Given the description of an element on the screen output the (x, y) to click on. 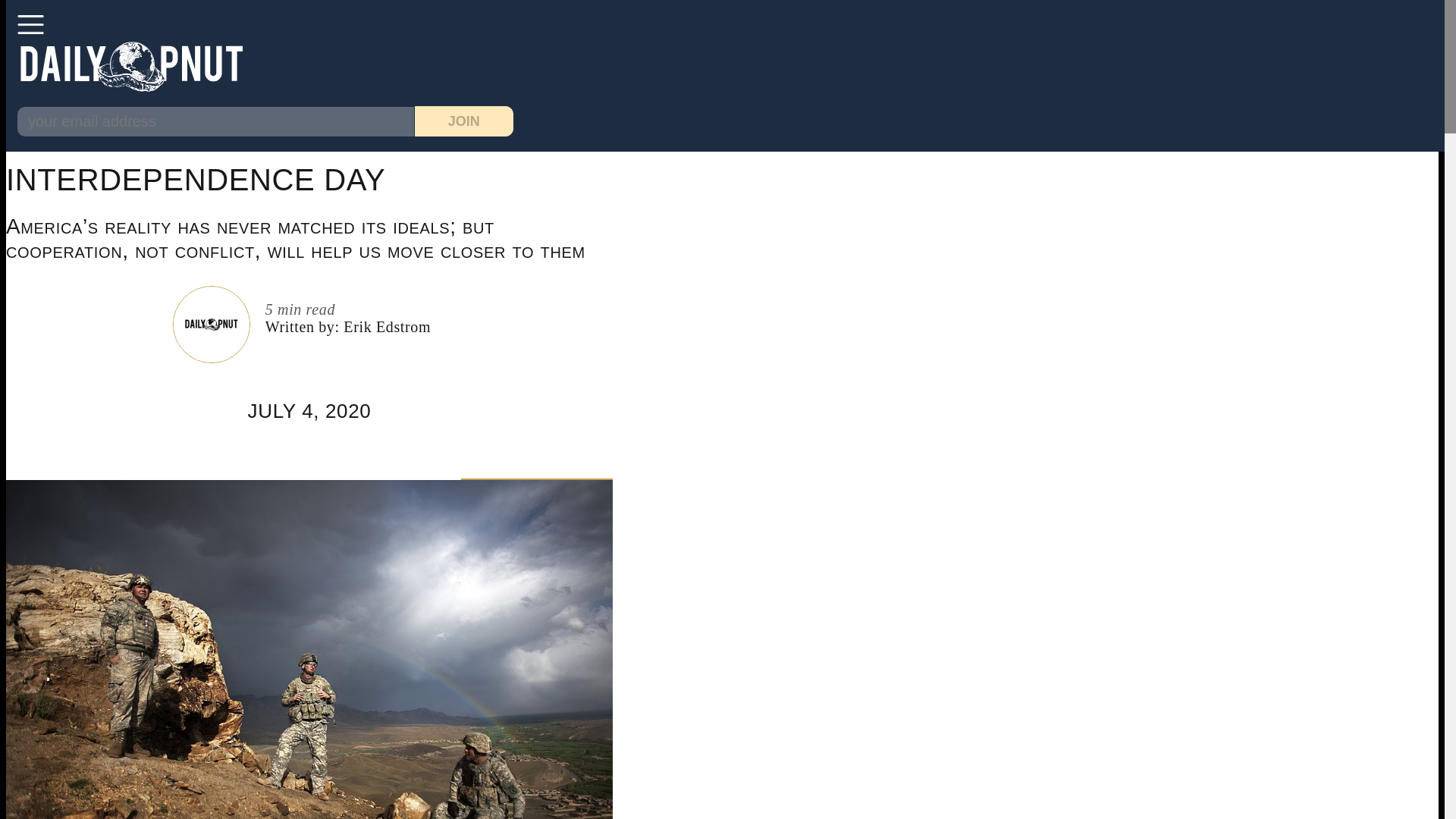
JOIN (463, 121)
JOIN (463, 121)
